Given the description of an element on the screen output the (x, y) to click on. 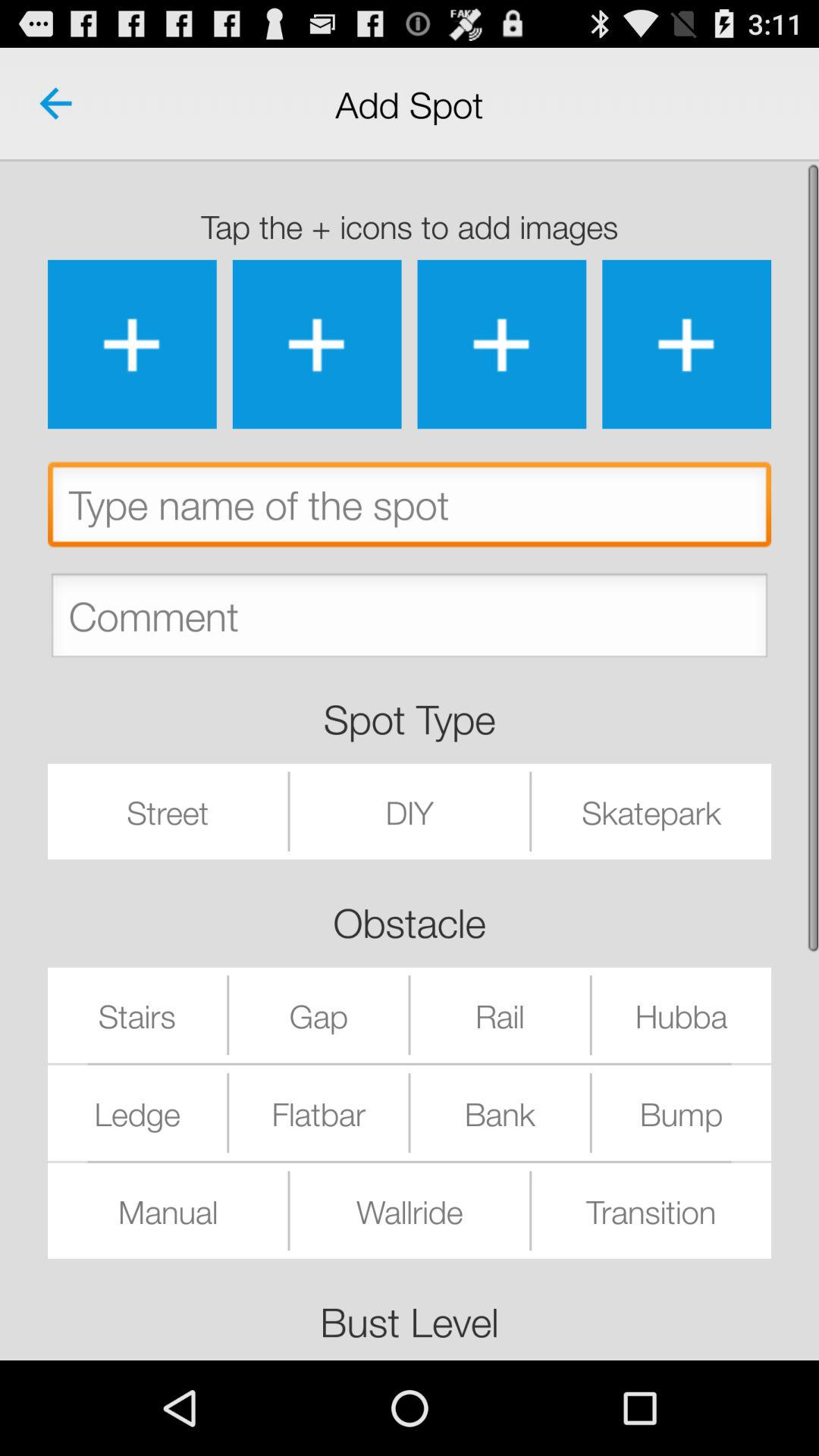
choose the item on the left (167, 811)
